Given the description of an element on the screen output the (x, y) to click on. 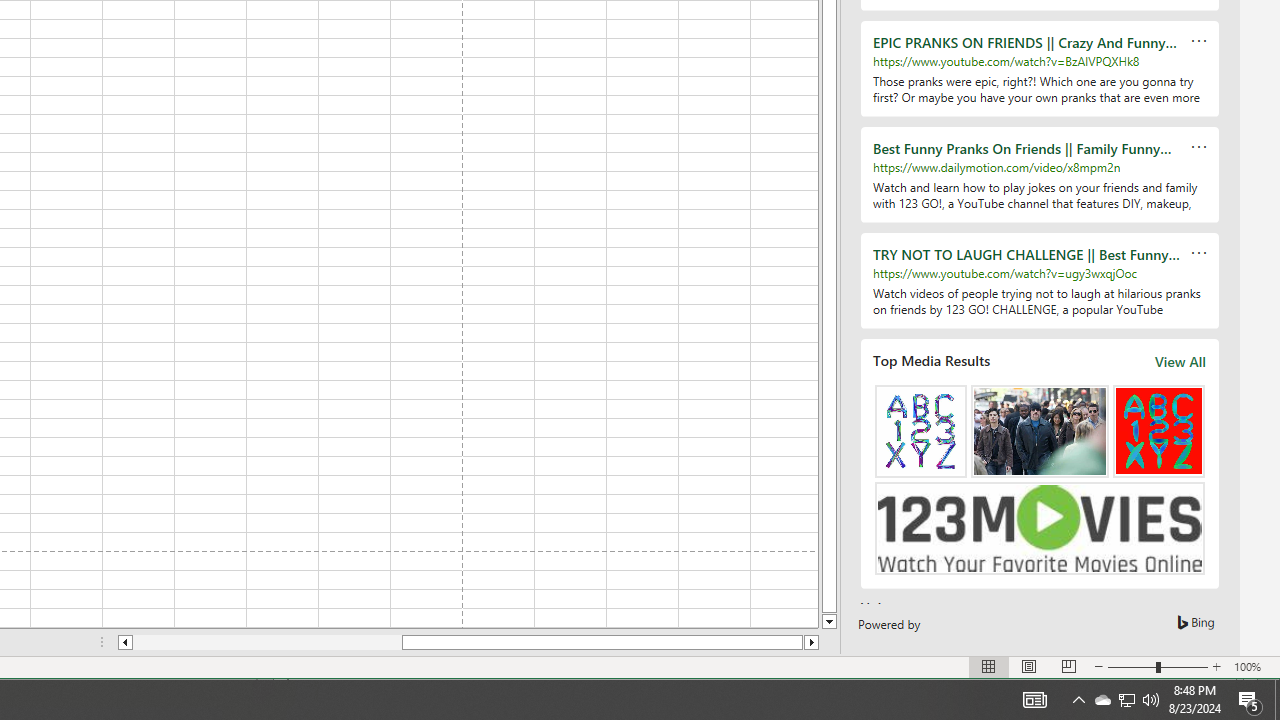
Action Center, 5 new notifications (1250, 699)
Q2790: 100% (1151, 699)
Show desktop (1102, 699)
Page left (1277, 699)
